Given the description of an element on the screen output the (x, y) to click on. 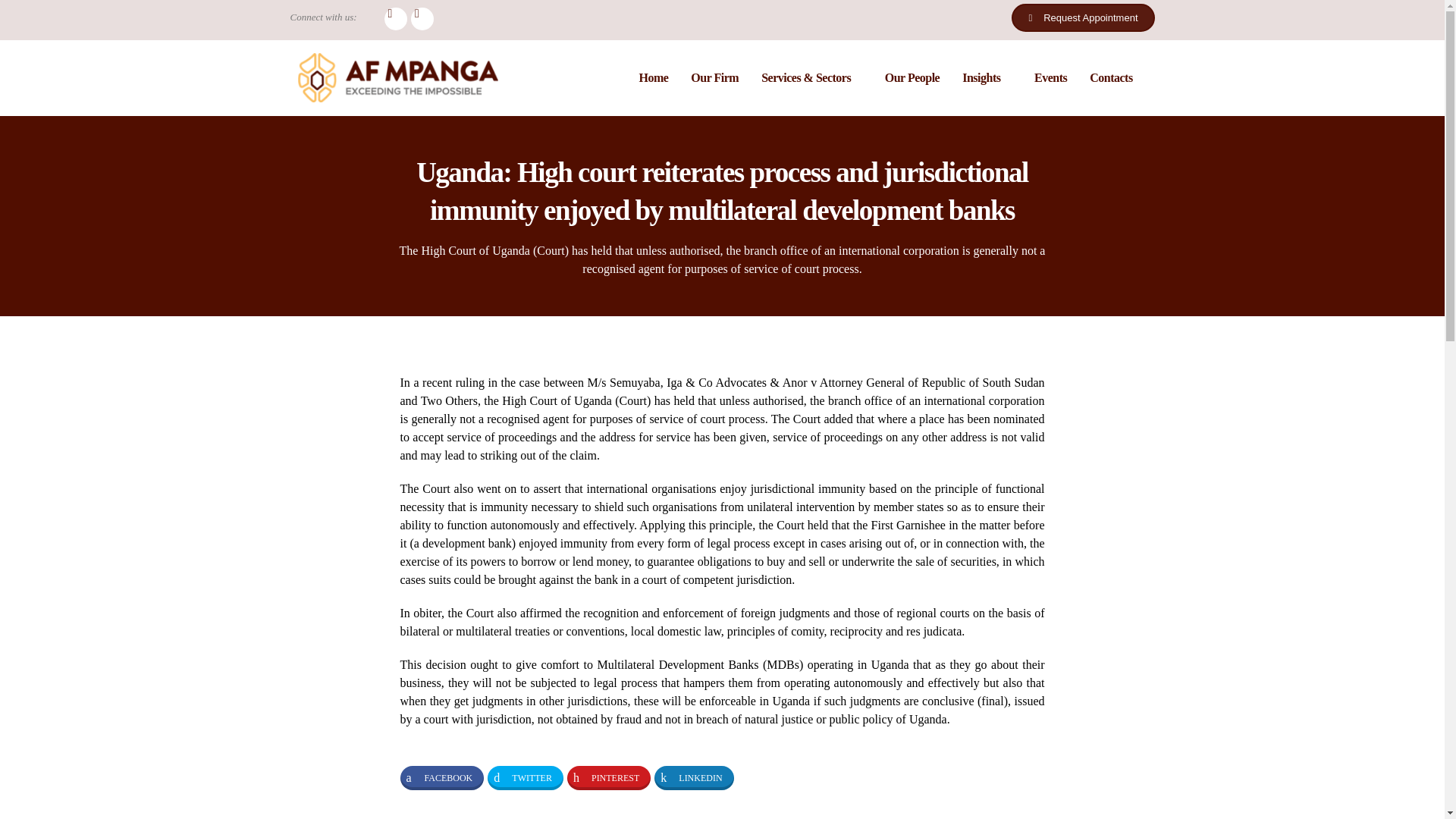
Share on LinkedIn (693, 777)
Share on Facebook (442, 777)
Our Firm (714, 76)
Request Appointment (1082, 17)
Insights (986, 76)
Events (1050, 76)
Share on Pinterest (608, 777)
Our People (911, 76)
Contacts (1110, 76)
Share on Twitter (525, 777)
